Given the description of an element on the screen output the (x, y) to click on. 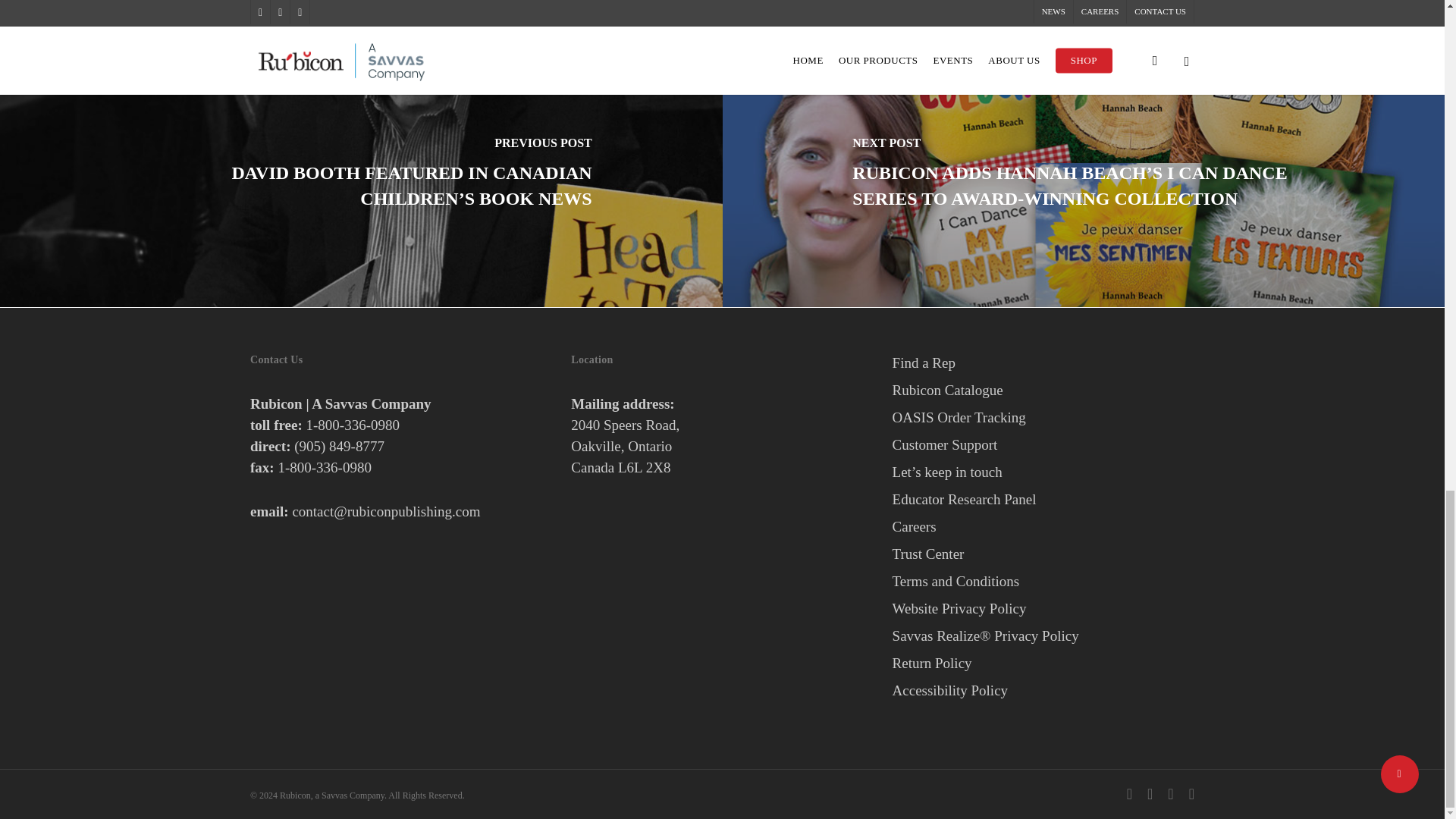
Find a Rep (1042, 362)
Customer Support (1042, 444)
OASIS Order Tracking (1042, 417)
Educator Research Panel (1042, 499)
Trust Center (1042, 554)
Careers (1042, 526)
Rubicon Catalogue (1042, 390)
